Given the description of an element on the screen output the (x, y) to click on. 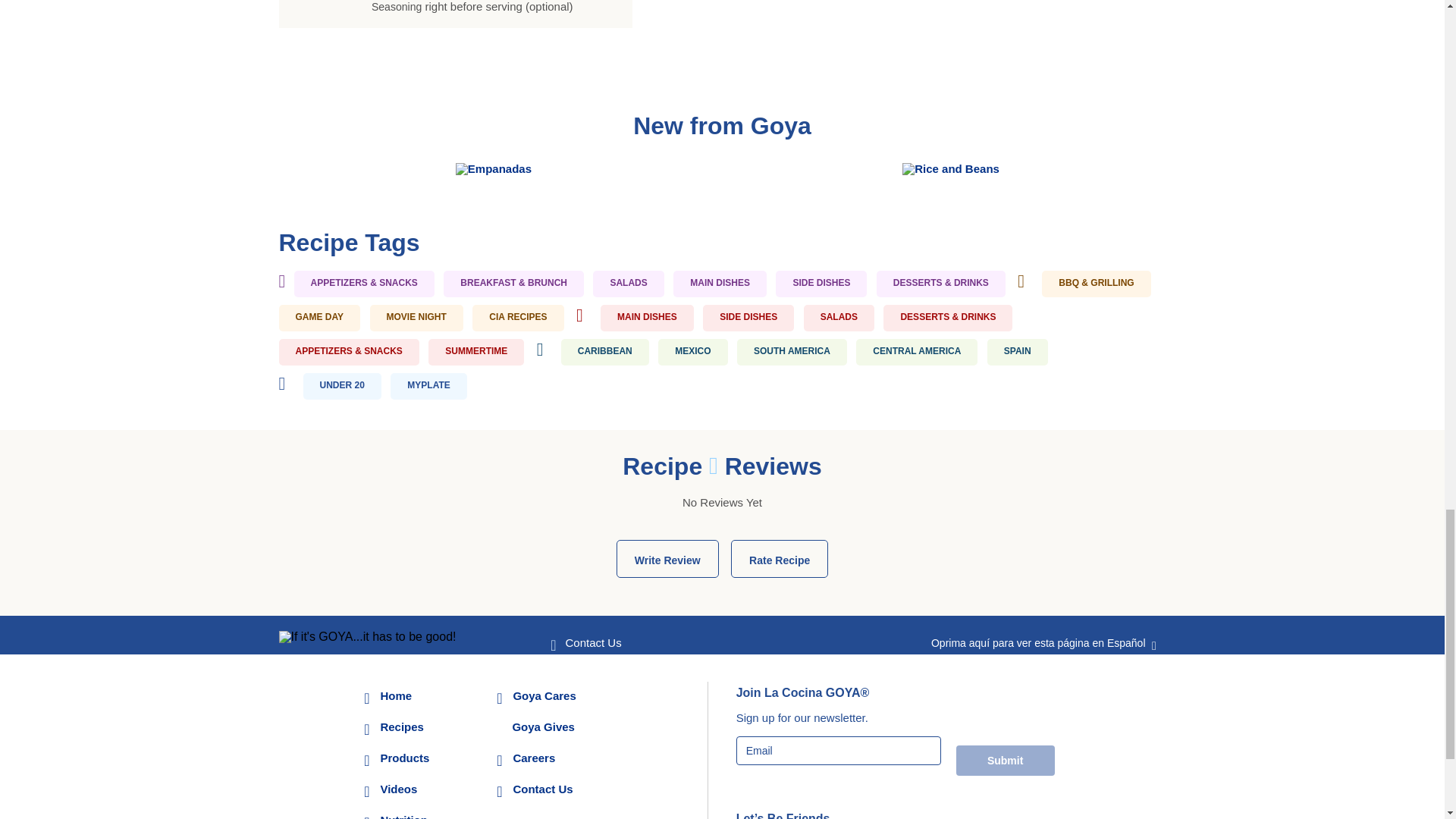
Adobo Light All-Purpose Seasoning (483, 6)
Empanadas (493, 168)
Rice and Beans (950, 168)
